Given the description of an element on the screen output the (x, y) to click on. 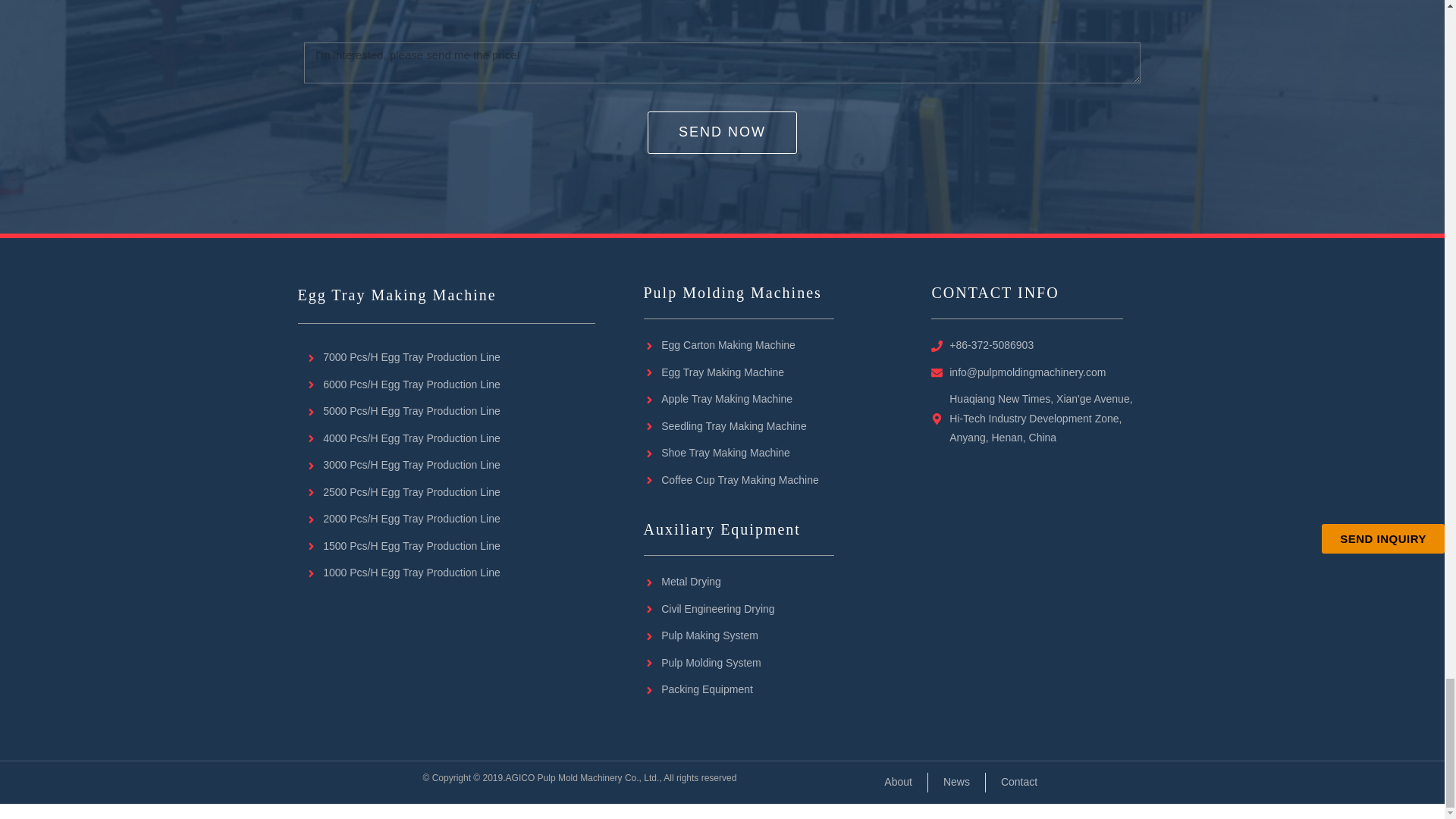
Send Now (721, 132)
